Given the description of an element on the screen output the (x, y) to click on. 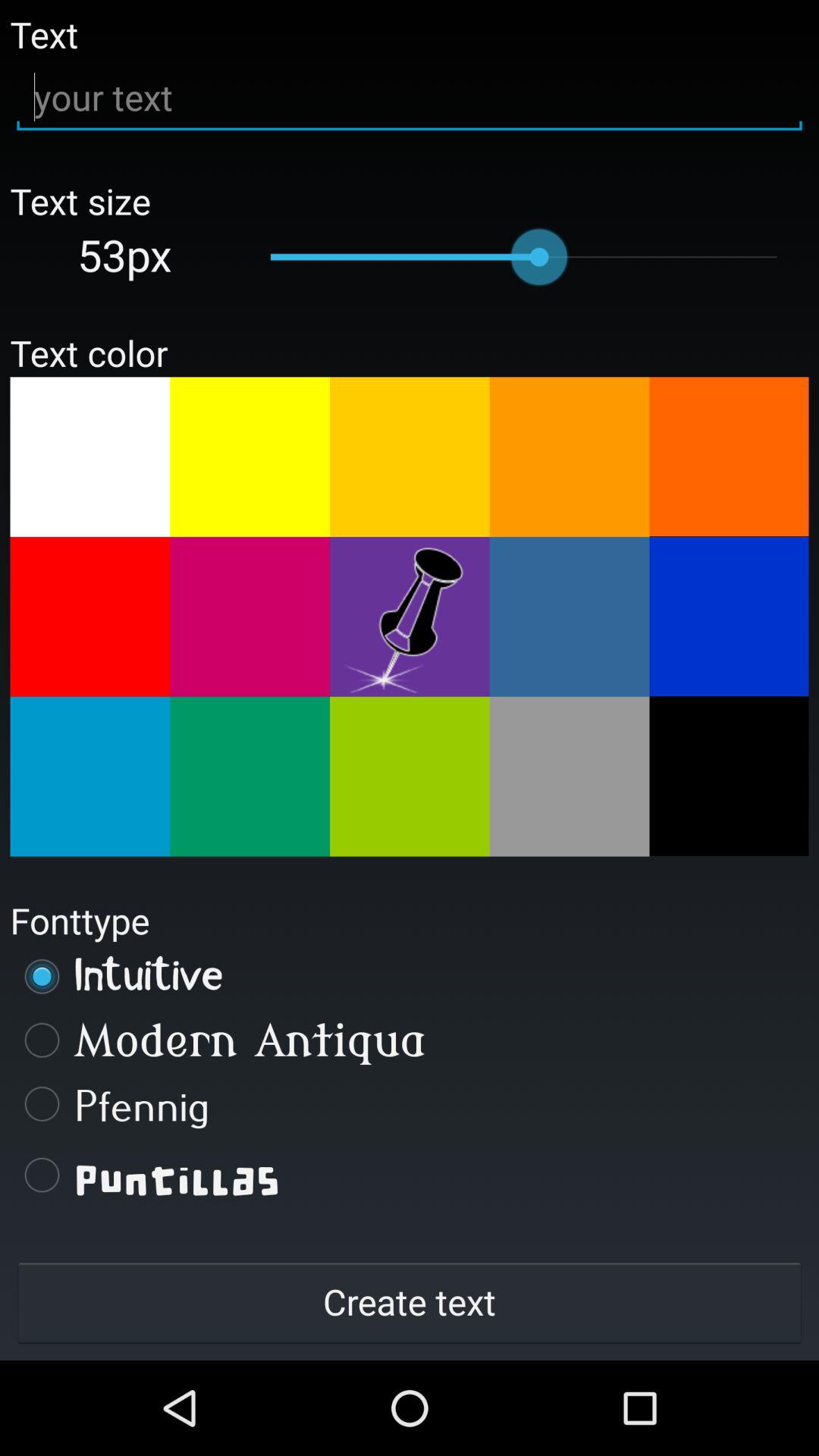
selecione a cor verde-limo (409, 776)
